Given the description of an element on the screen output the (x, y) to click on. 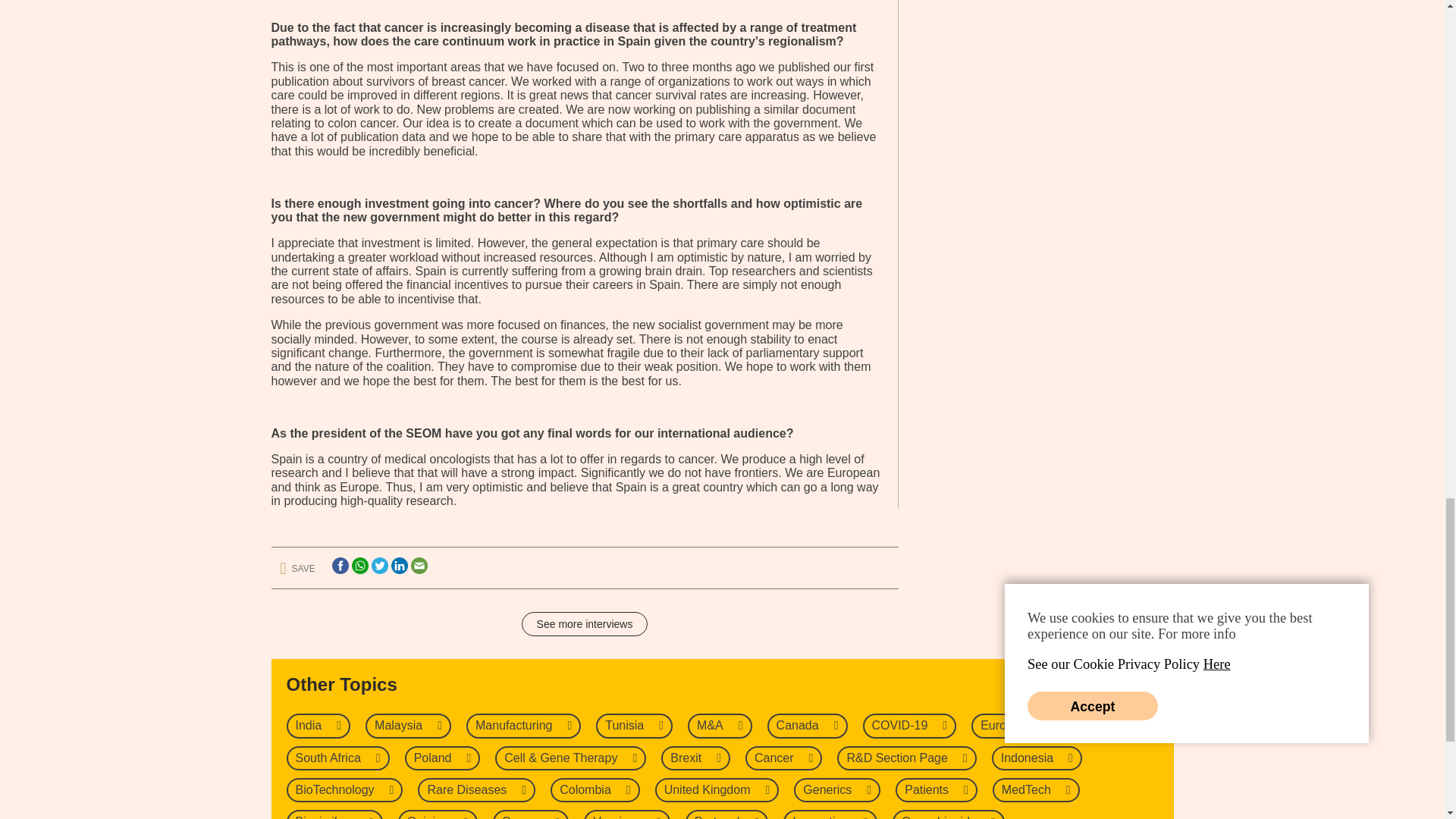
LinkedIn (399, 565)
Facebook (340, 565)
WhatsApp (360, 565)
Twitter (379, 565)
Email (419, 565)
